Given the description of an element on the screen output the (x, y) to click on. 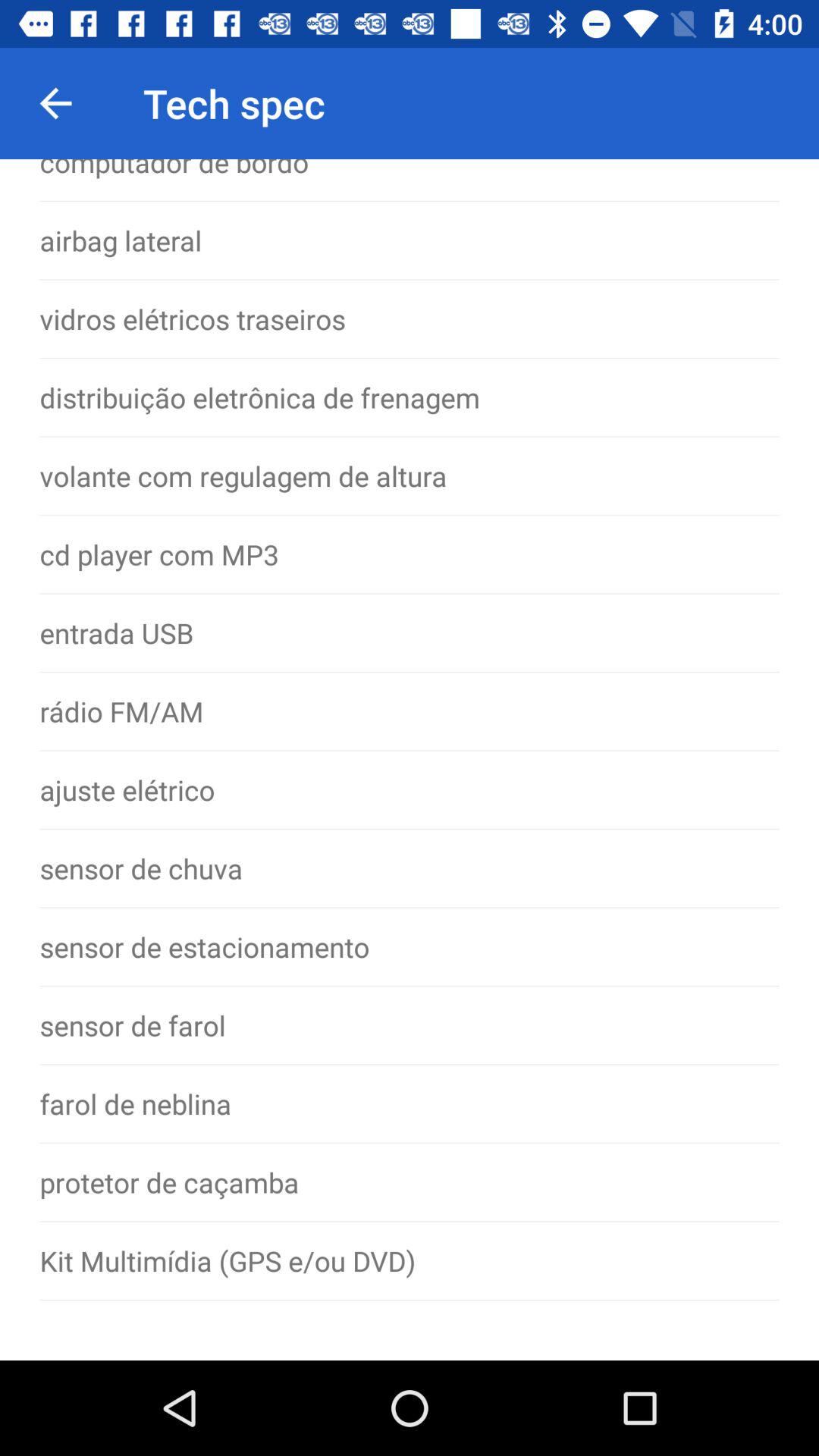
open item to the left of tech spec icon (55, 103)
